Given the description of an element on the screen output the (x, y) to click on. 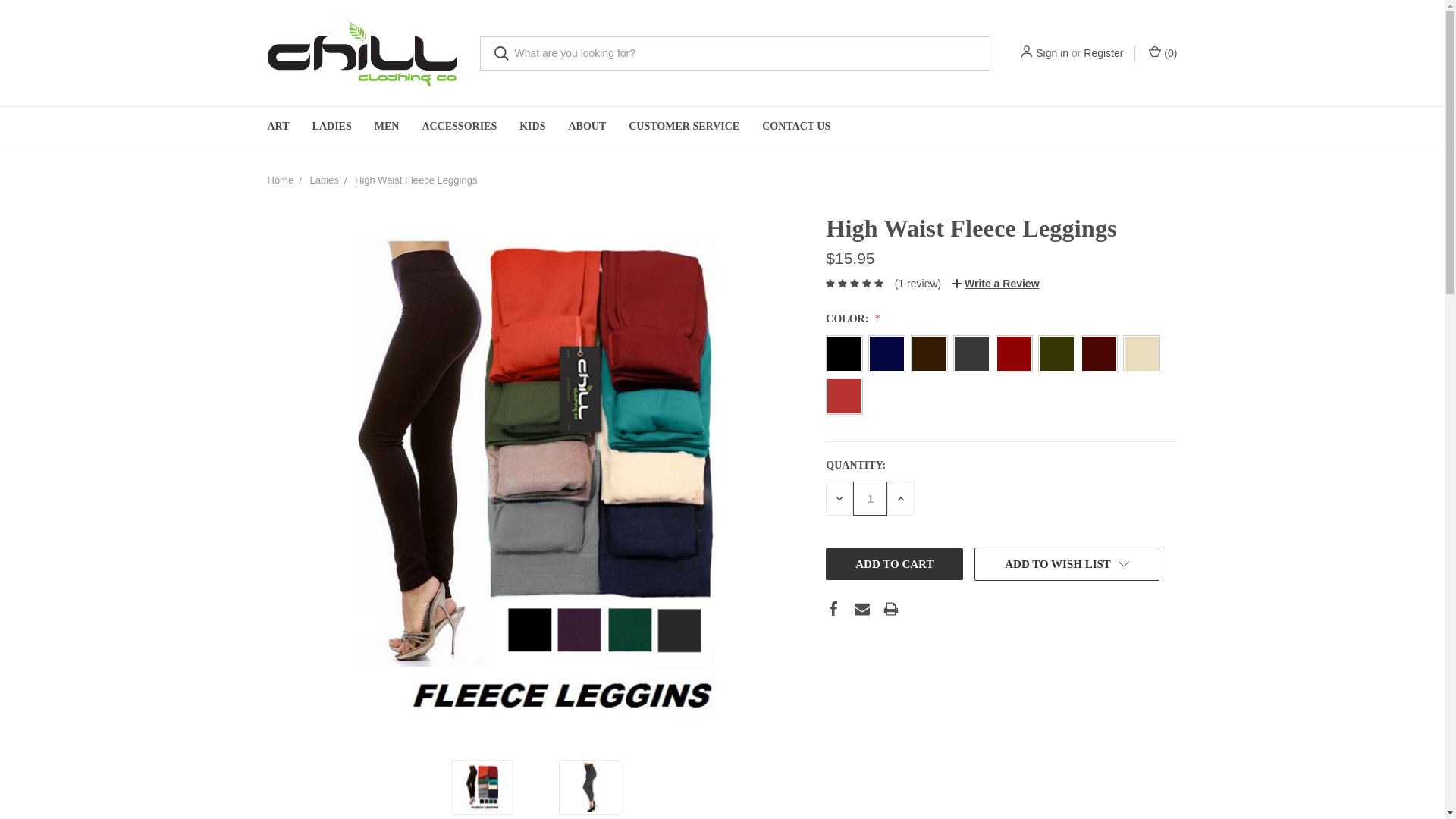
Black (844, 353)
ACCESSORIES (459, 126)
KIDS (532, 126)
ART (278, 126)
Mauve (844, 396)
Dark Brown (929, 353)
1 (869, 498)
Wine (1013, 353)
Charcoal (971, 353)
